Given the description of an element on the screen output the (x, y) to click on. 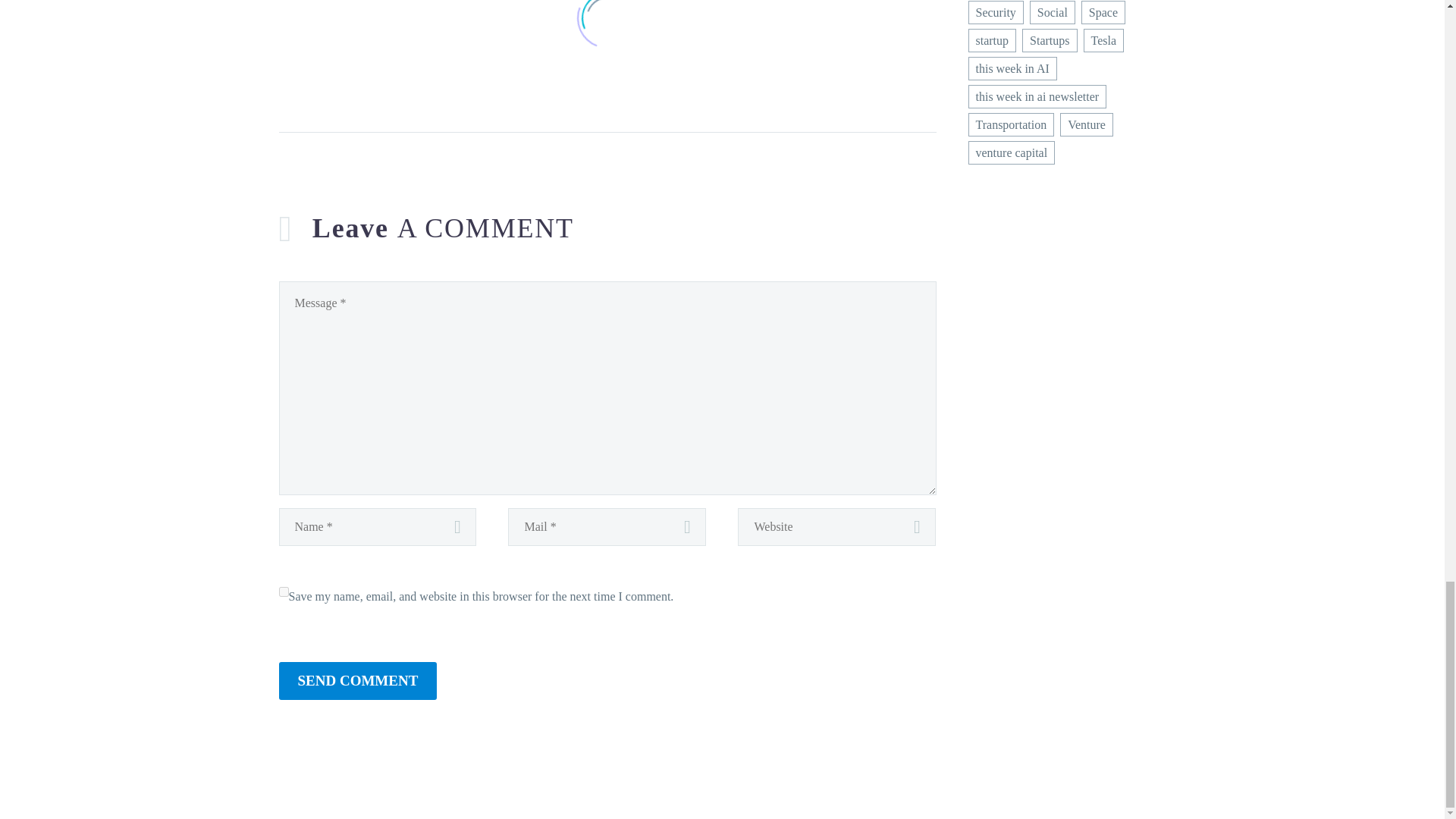
yes (283, 592)
